Given the description of an element on the screen output the (x, y) to click on. 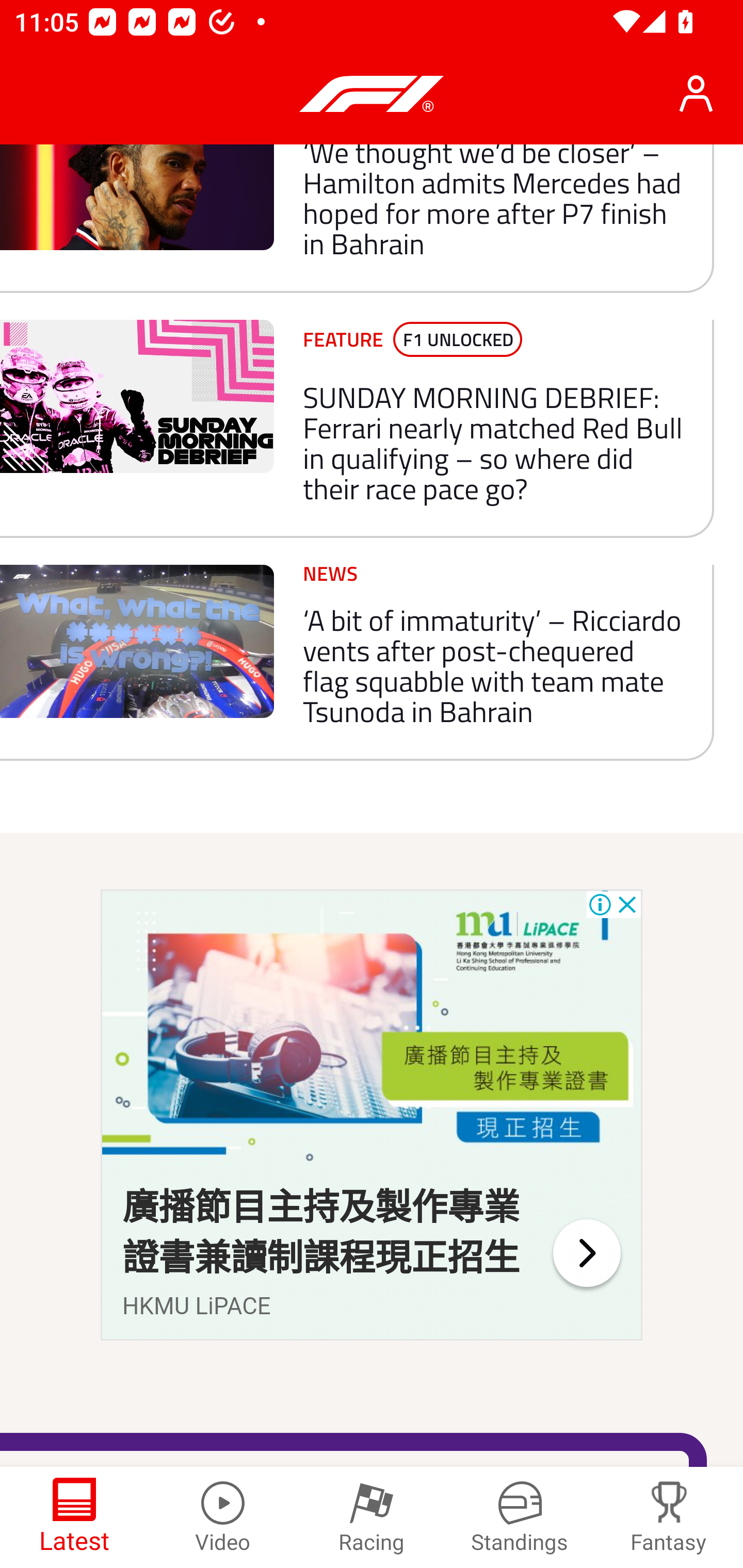
%3Flce%3DGDN_B2023_01 (371, 1034)
廣播節目主持及製作專業 證書兼讀制課程現正招生 廣播節目主持及製作專業 證書兼讀制課程現正招生 (321, 1233)
%3Flce%3DGDN_B2023_01 (586, 1252)
HKMU LiPACE (196, 1306)
Video (222, 1517)
Racing (371, 1517)
Standings (519, 1517)
Fantasy (668, 1517)
